Given the description of an element on the screen output the (x, y) to click on. 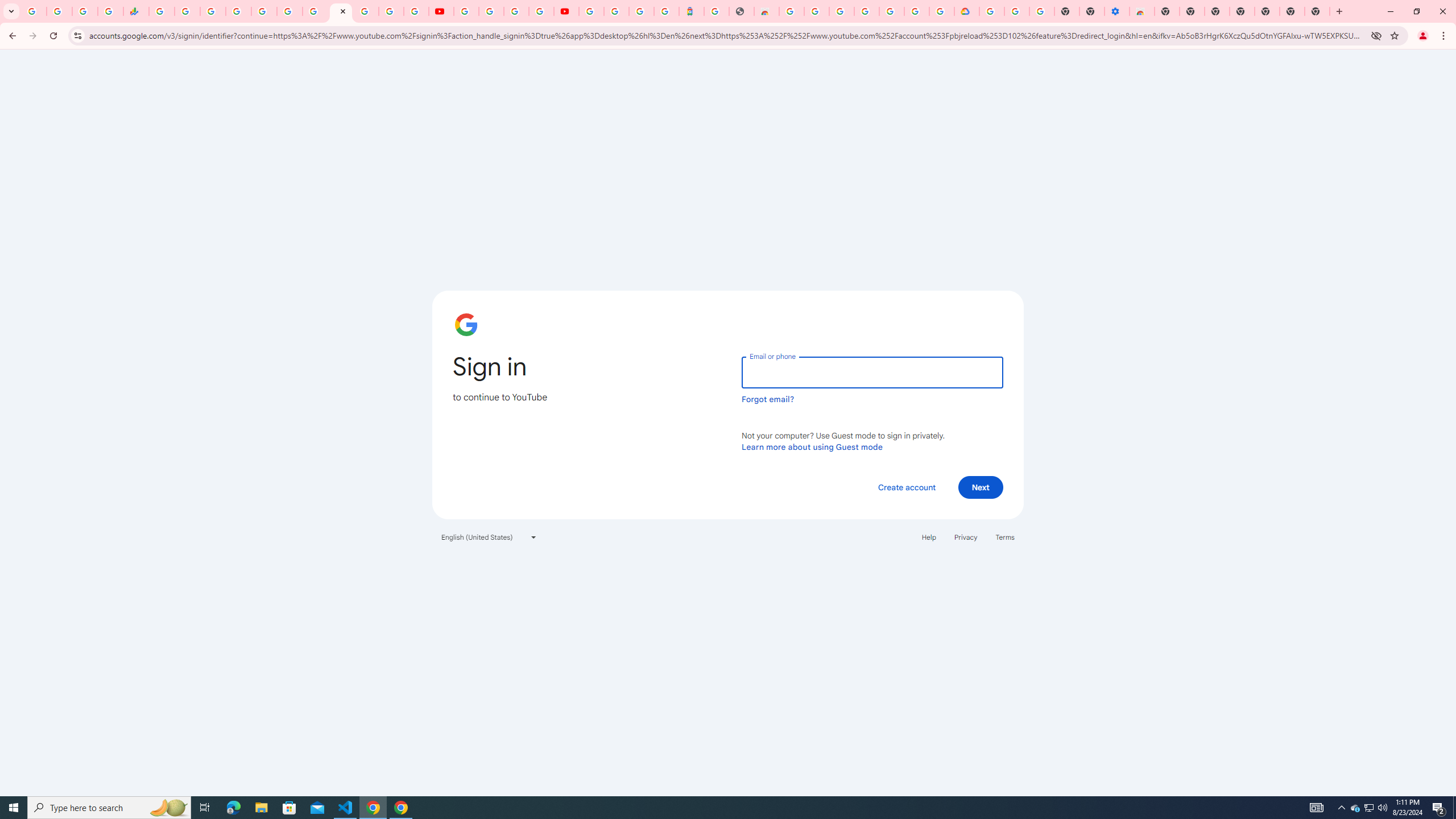
Google Account Help (1016, 11)
Turn cookies on or off - Computer - Google Account Help (1042, 11)
Settings - Accessibility (1116, 11)
Sign in - Google Accounts (916, 11)
Next (980, 486)
Google Account Help (491, 11)
Create account (905, 486)
Google Workspace Admin Community (34, 11)
